Given the description of an element on the screen output the (x, y) to click on. 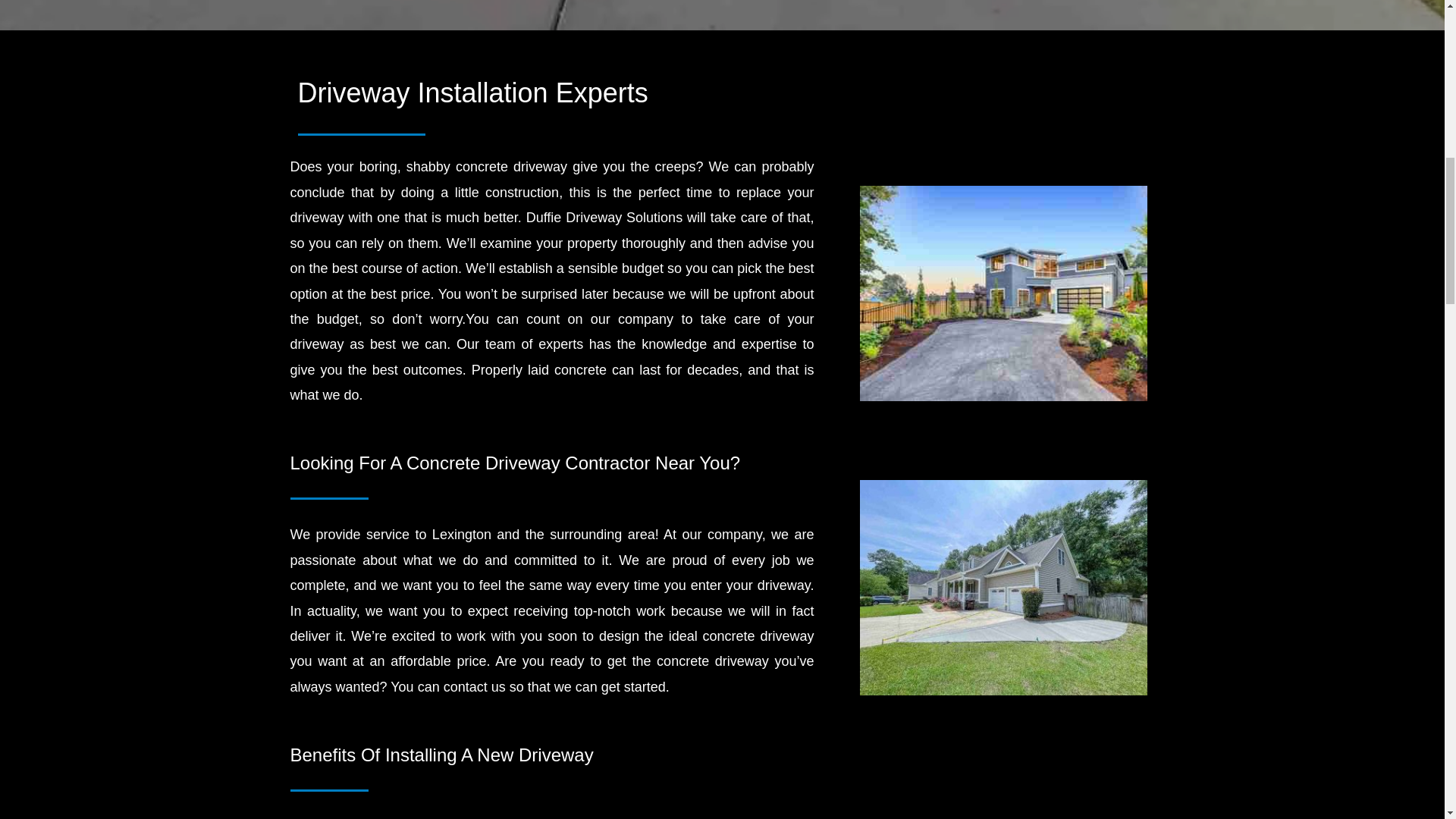
Driveway Replacement Columbia SC (1003, 587)
Driveway Replacement (1003, 293)
